Given the description of an element on the screen output the (x, y) to click on. 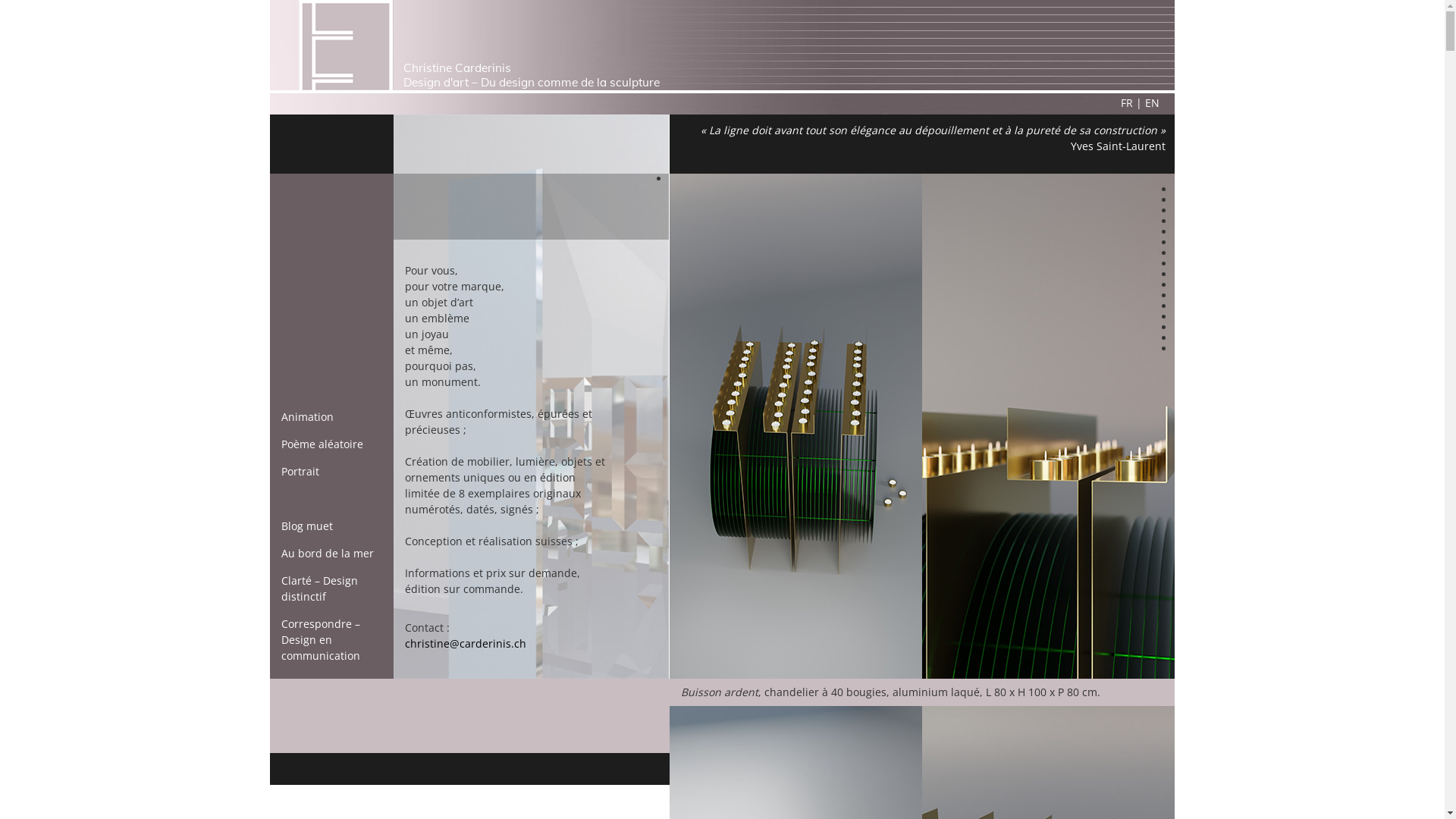
FR Element type: text (1126, 102)
Blog muet Element type: text (306, 525)
Animation Element type: text (307, 416)
Portrait Element type: text (300, 471)
christine@carderinis.ch Element type: text (465, 643)
Au bord de la mer Element type: text (327, 553)
EN Element type: text (1152, 102)
